Given the description of an element on the screen output the (x, y) to click on. 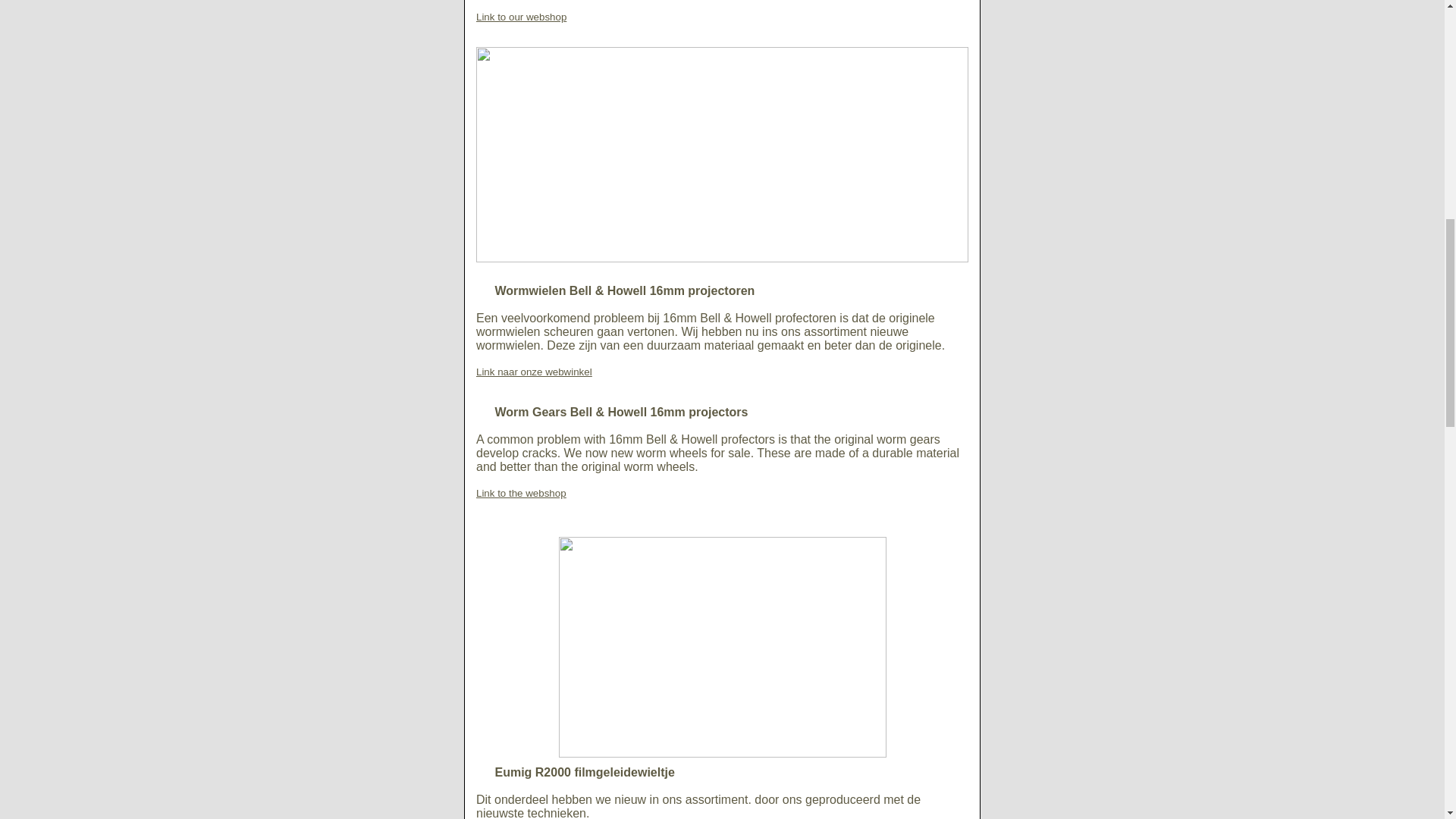
Link to our webshop (521, 16)
Link naar onze webwinkel (534, 371)
Link to the webshop (521, 492)
